Given the description of an element on the screen output the (x, y) to click on. 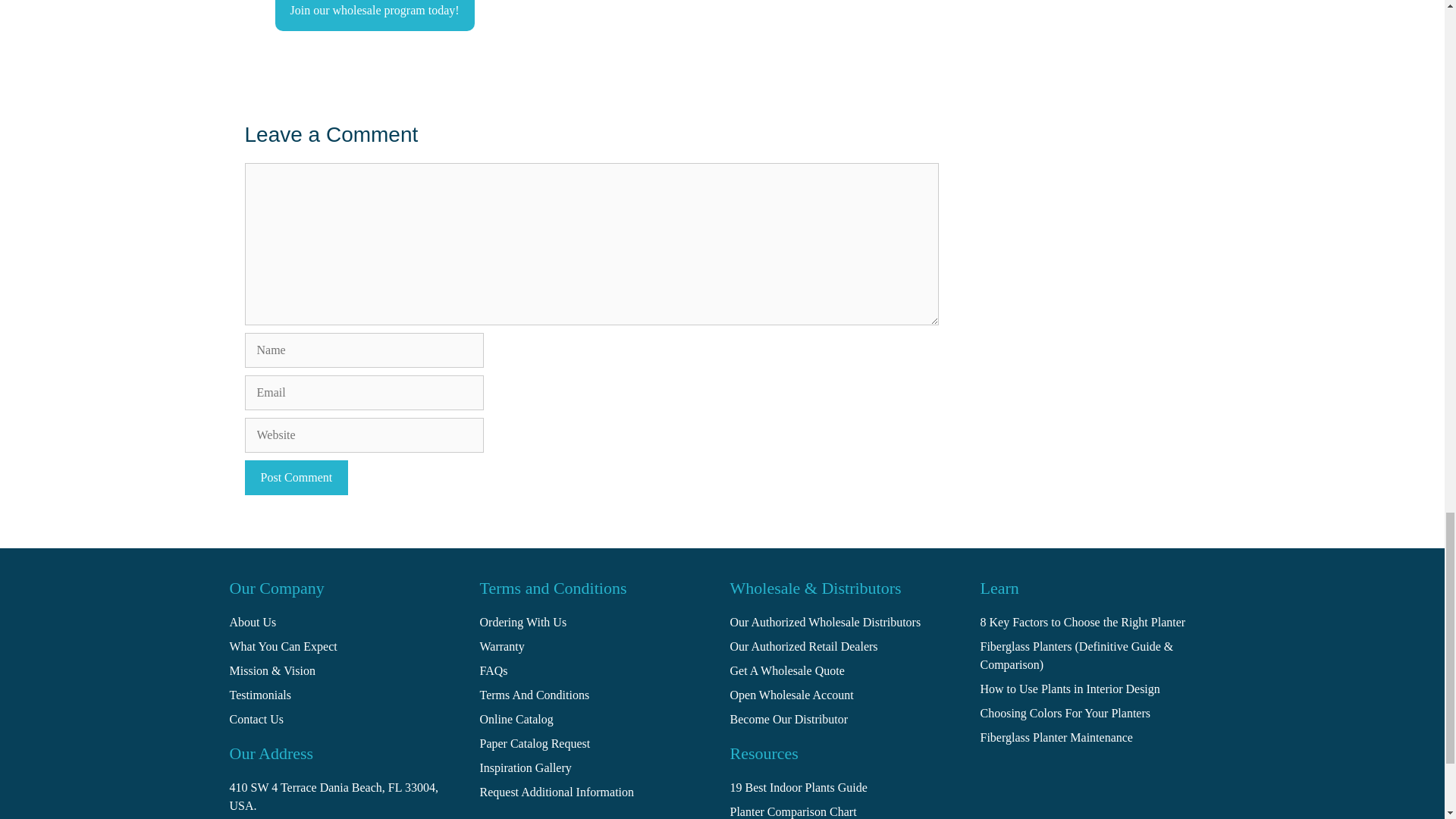
Post Comment (295, 477)
